Given the description of an element on the screen output the (x, y) to click on. 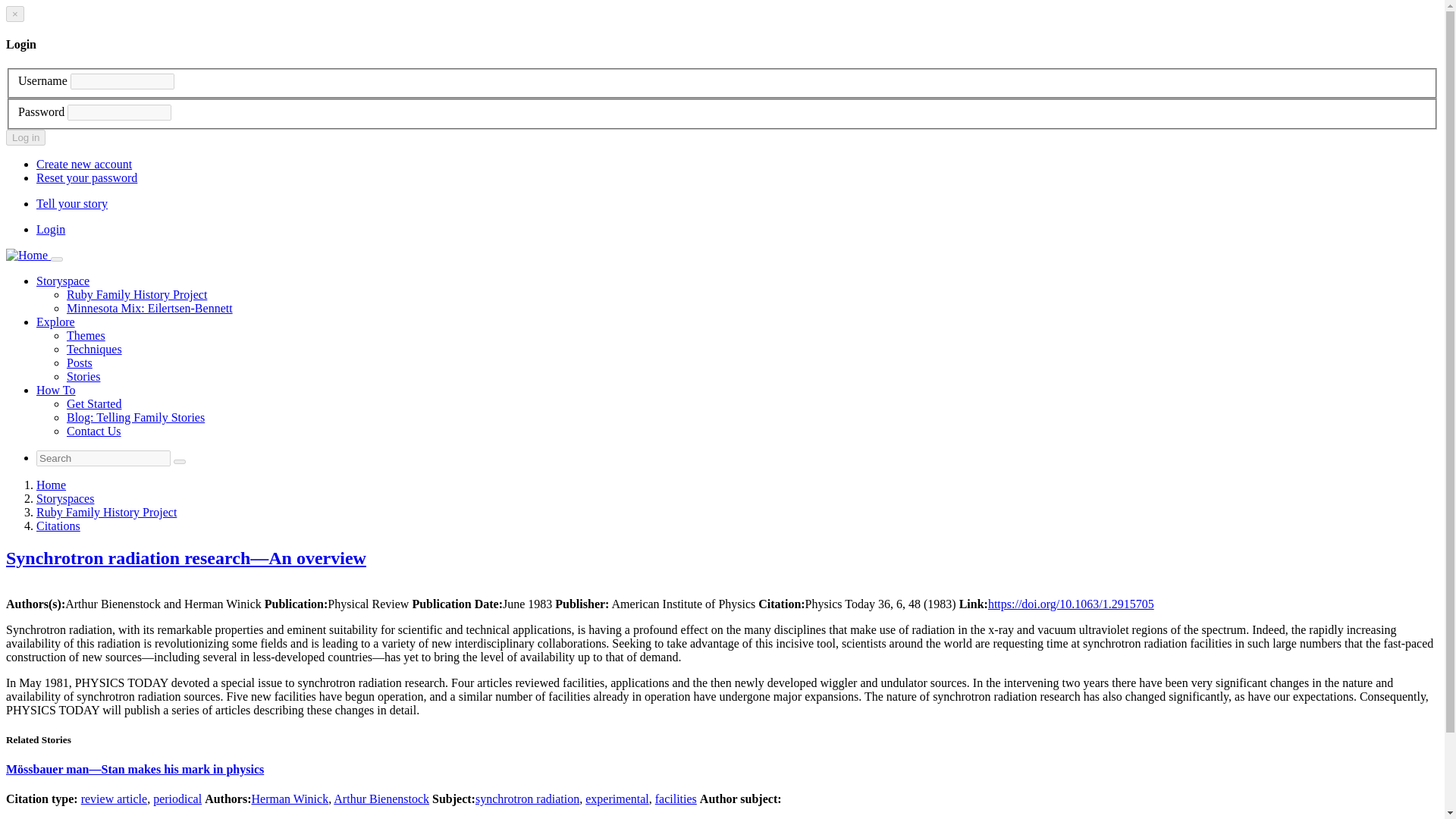
Ruby Family History Project (136, 294)
Storyspaces (65, 498)
Citations (58, 525)
Create new account (84, 164)
experimental (617, 798)
Explore (55, 321)
Themes (85, 335)
Privacy Policy (71, 818)
review article (114, 798)
Blog: Telling Family Stories (135, 417)
Tell your story (71, 203)
facilities (676, 798)
Log in (25, 137)
synchrotron radiation (527, 798)
Blending old-line American and upright Norwegian stock (149, 308)
